Given the description of an element on the screen output the (x, y) to click on. 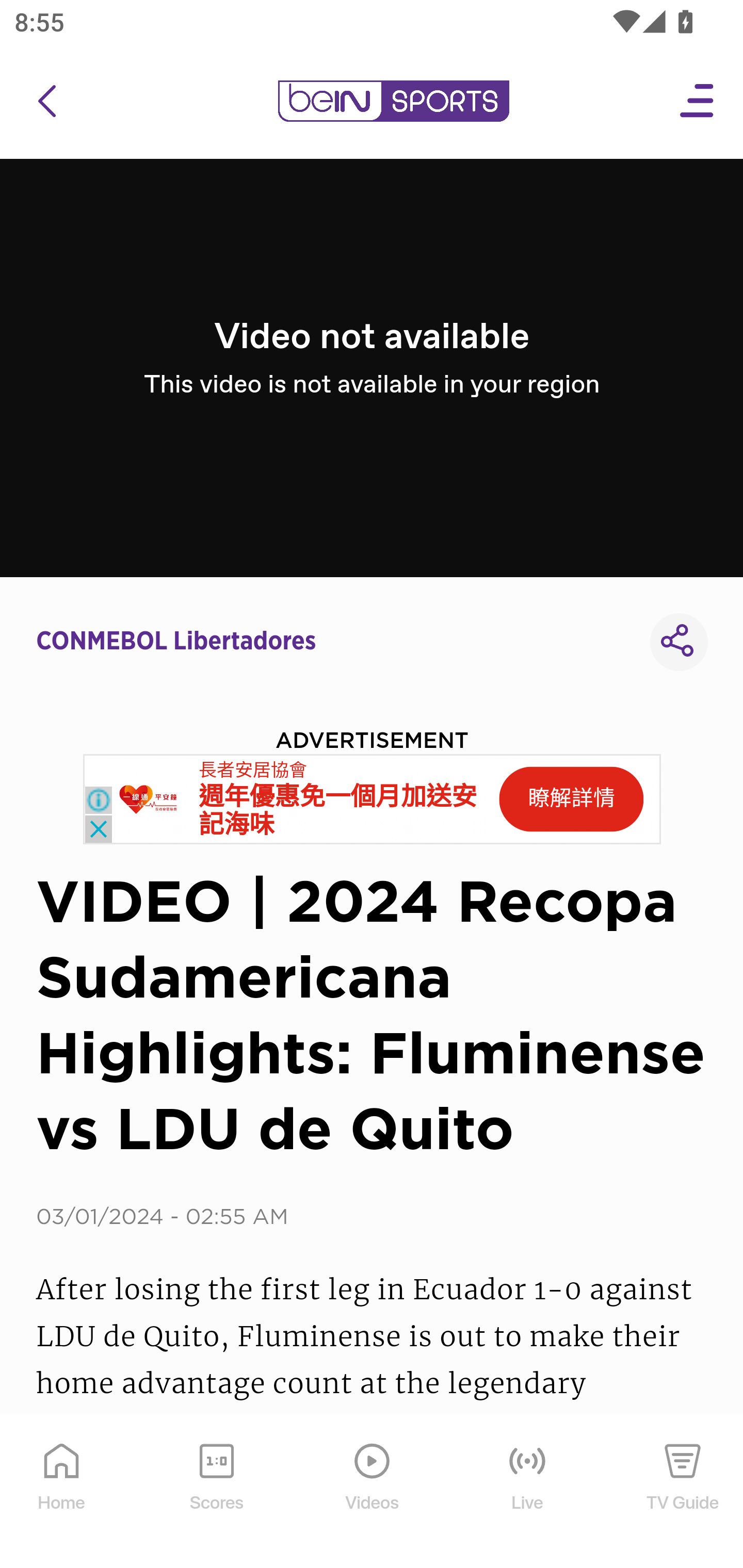
en-us?platform=mobile_android bein logo (392, 101)
icon back (46, 101)
Open Menu Icon (697, 101)
長者安居協會 (253, 769)
瞭解詳情 (571, 799)
週年優惠免一個月加送安 記海味 週年優惠免一個月加送安 記海味 (338, 811)
Home Home Icon Home (61, 1491)
Scores Scores Icon Scores (216, 1491)
Videos Videos Icon Videos (372, 1491)
TV Guide TV Guide Icon TV Guide (682, 1491)
